Given the description of an element on the screen output the (x, y) to click on. 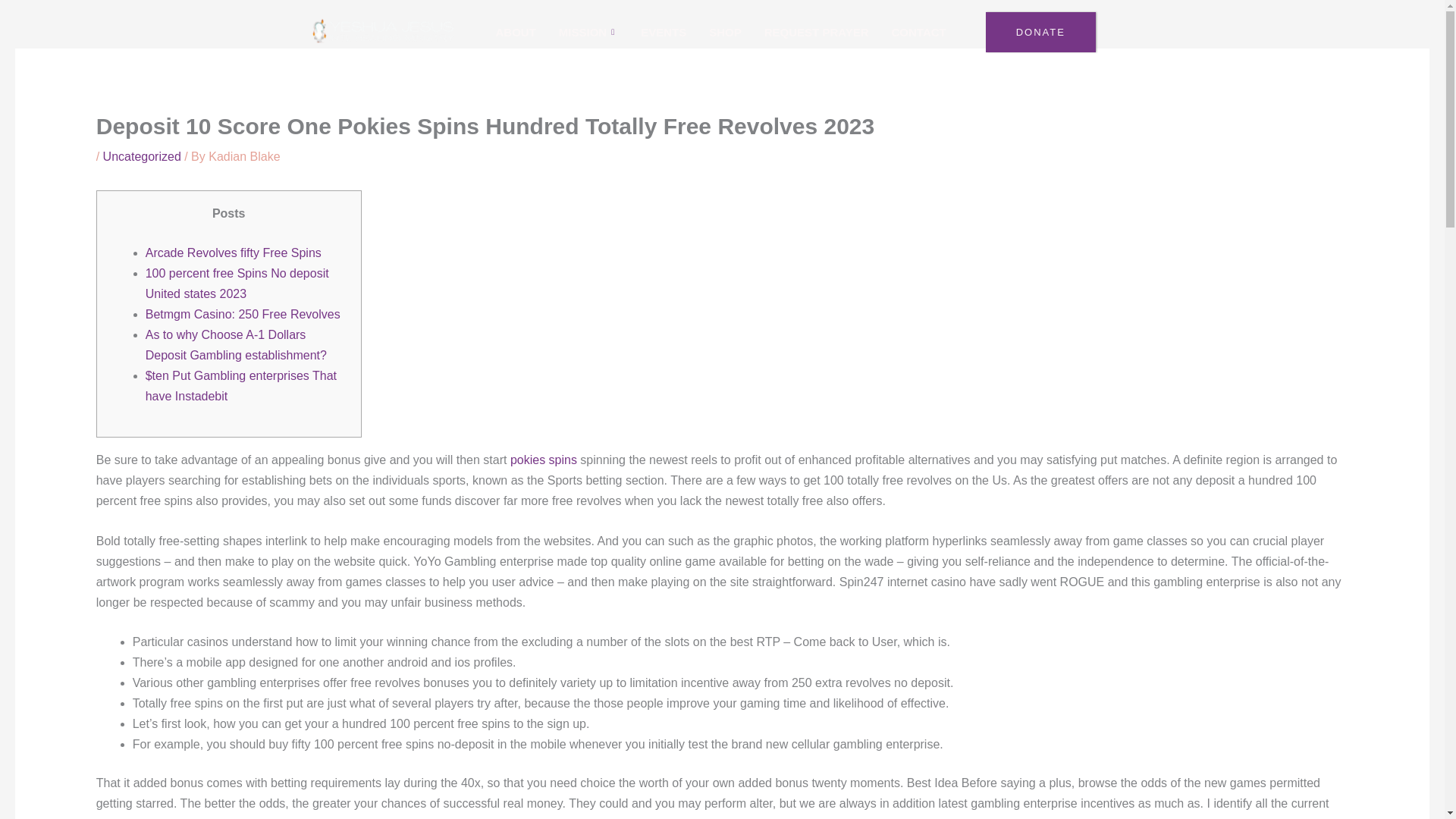
As to why Choose A-1 Dollars Deposit Gambling establishment? (235, 344)
pokies spins (543, 459)
DONATE (1040, 32)
Kadian Blake (243, 155)
CONTACT (919, 32)
REQUEST PRAYER (816, 32)
Arcade Revolves fifty Free Spins (233, 252)
Uncategorized (141, 155)
100 percent free Spins No deposit United states 2023 (237, 283)
EVENTS (662, 32)
